Given the description of an element on the screen output the (x, y) to click on. 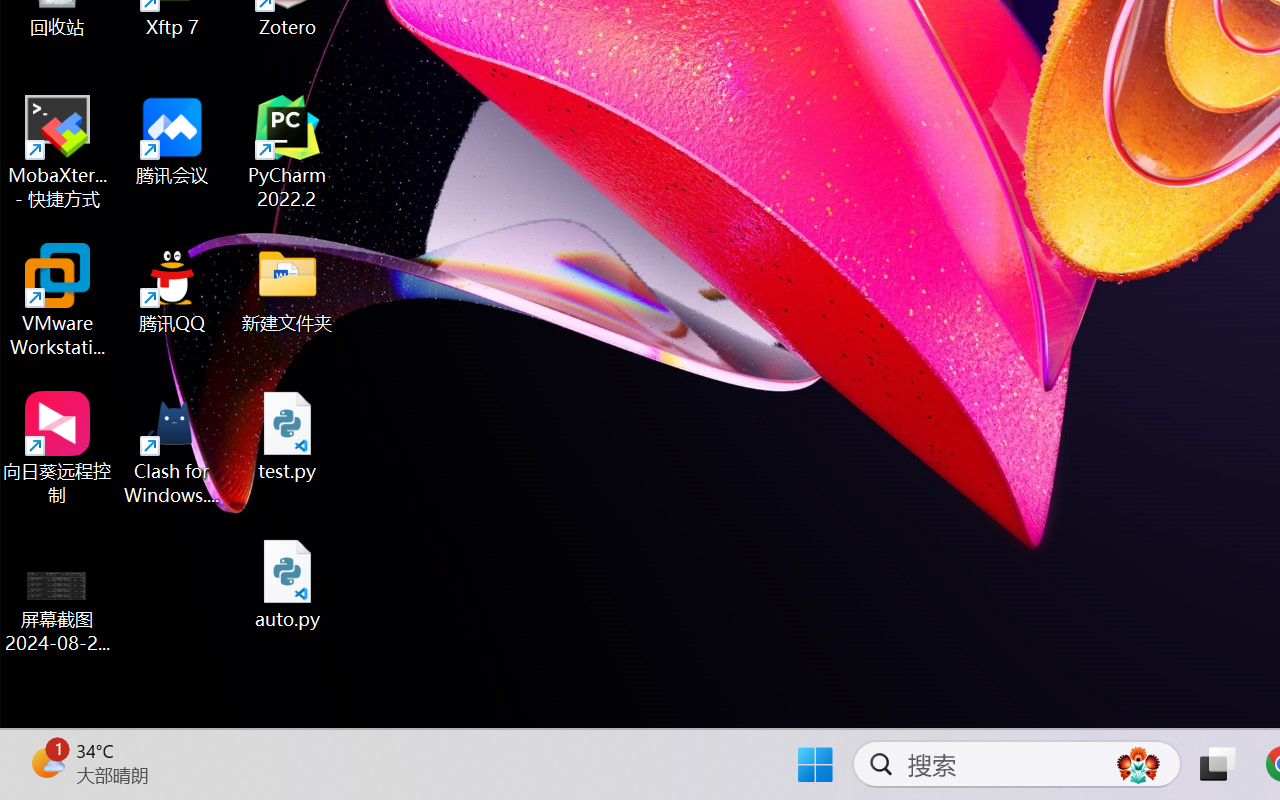
auto.py (287, 584)
test.py (287, 436)
PyCharm 2022.2 (287, 152)
VMware Workstation Pro (57, 300)
